Given the description of an element on the screen output the (x, y) to click on. 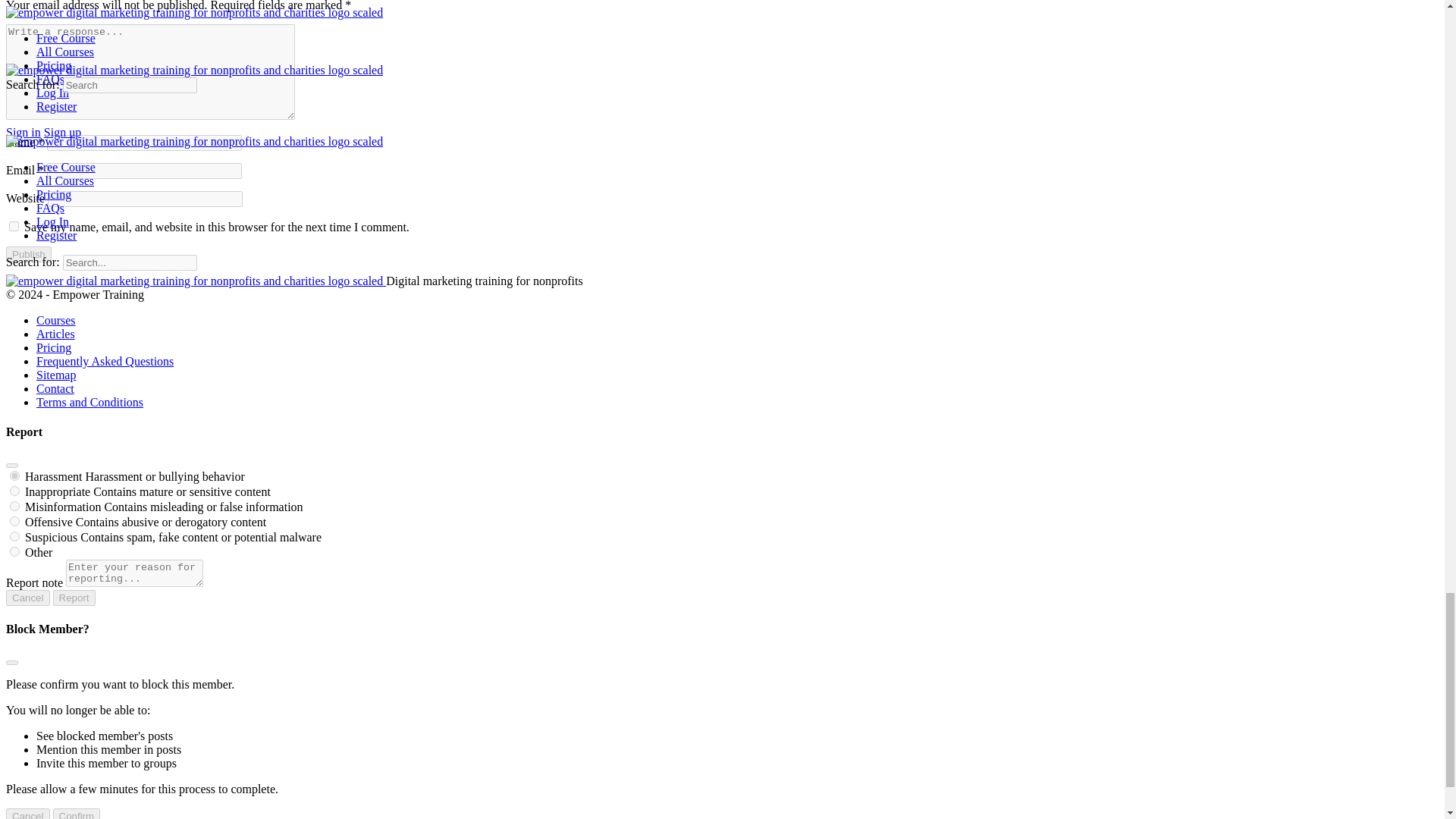
yes (13, 225)
Cancel (27, 597)
Publish (27, 254)
270 (15, 536)
271 (15, 475)
267 (15, 521)
other (15, 551)
Cancel (27, 813)
269 (15, 506)
268 (15, 491)
